Given the description of an element on the screen output the (x, y) to click on. 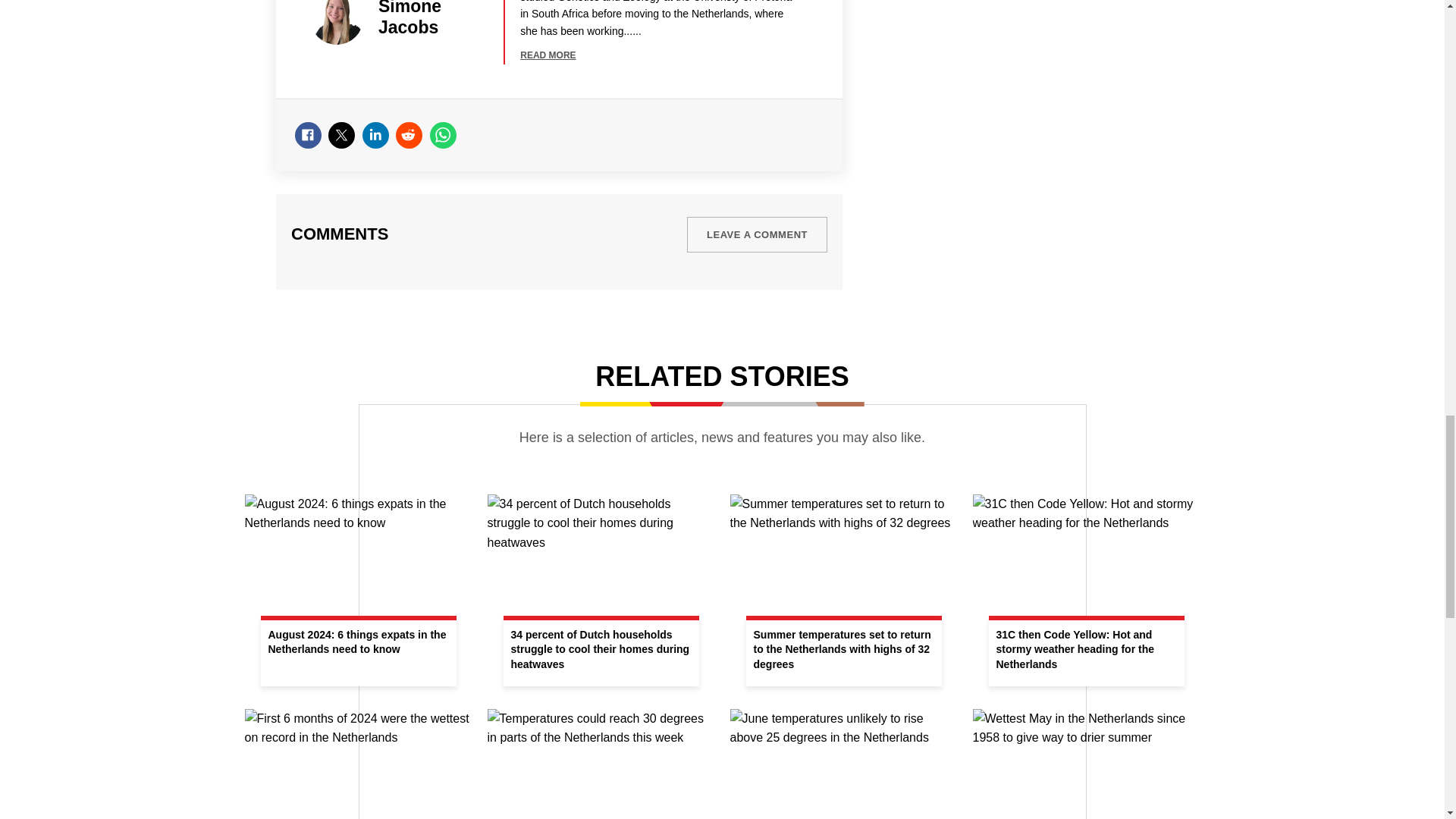
Leave a comment (757, 234)
